Given the description of an element on the screen output the (x, y) to click on. 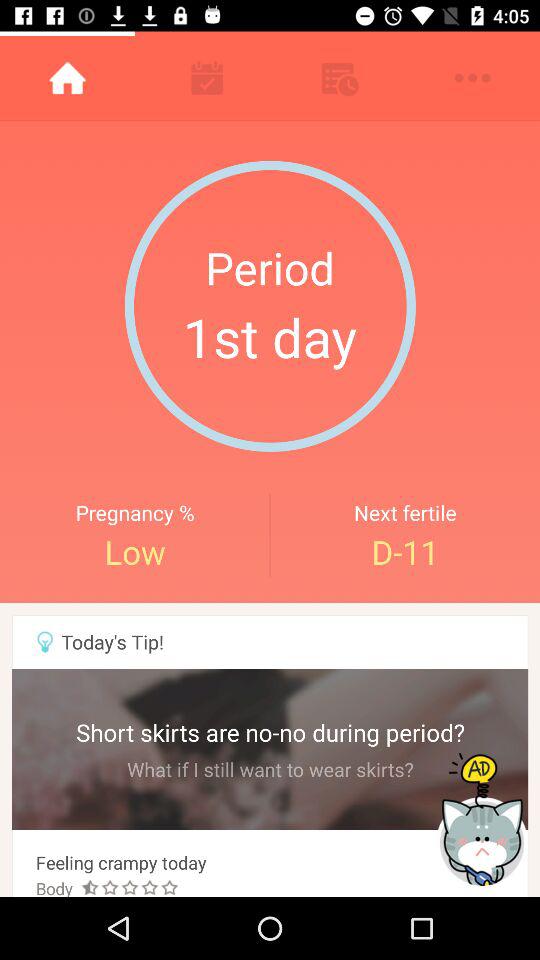
share the article (484, 820)
